Given the description of an element on the screen output the (x, y) to click on. 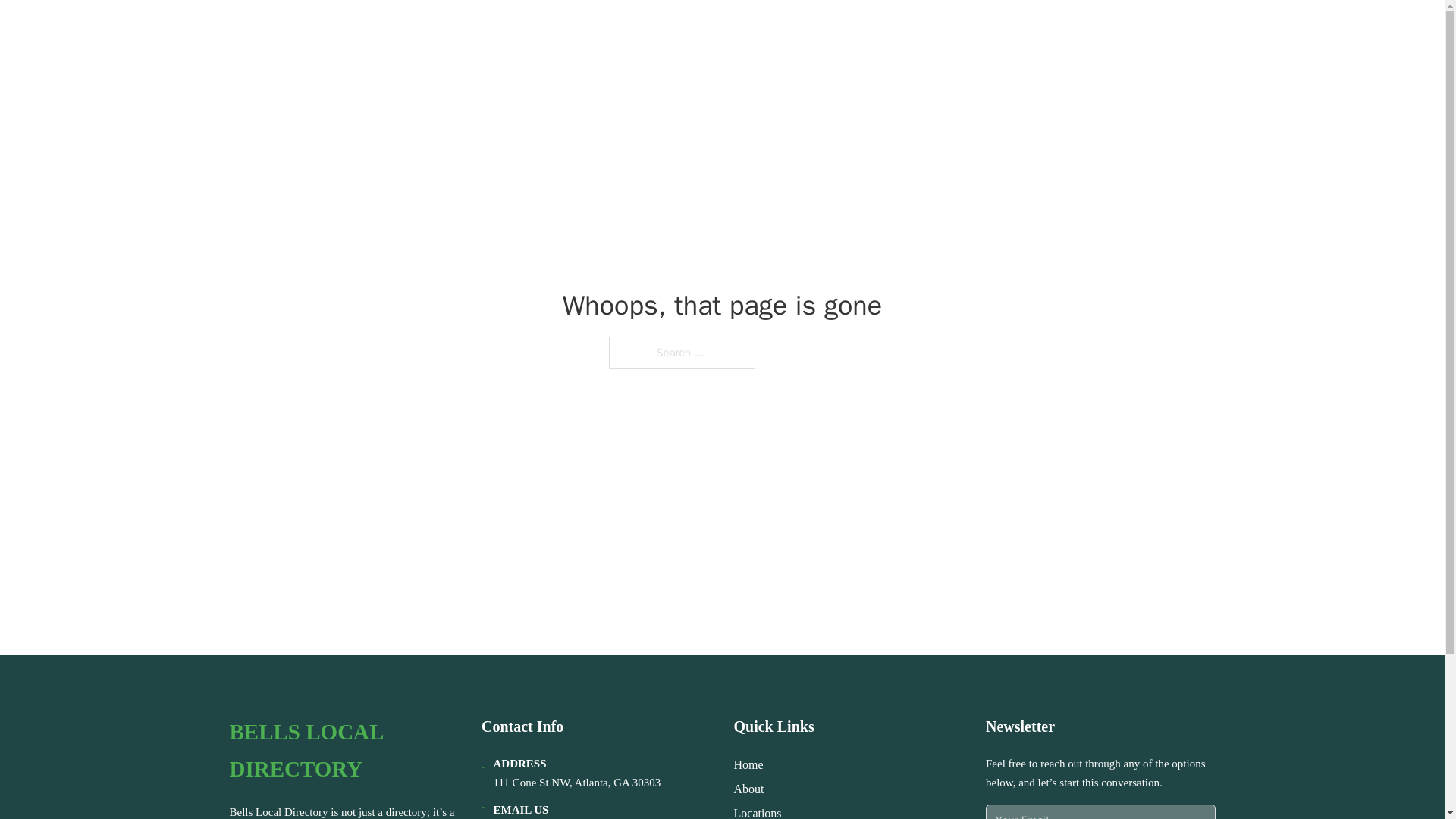
BELLS LOCAL DIRECTORY (343, 750)
BELLS LOCAL DIRECTORY (389, 31)
About (748, 788)
Home (747, 764)
HOME (1025, 31)
LOCATIONS (1098, 31)
Locations (757, 811)
